Given the description of an element on the screen output the (x, y) to click on. 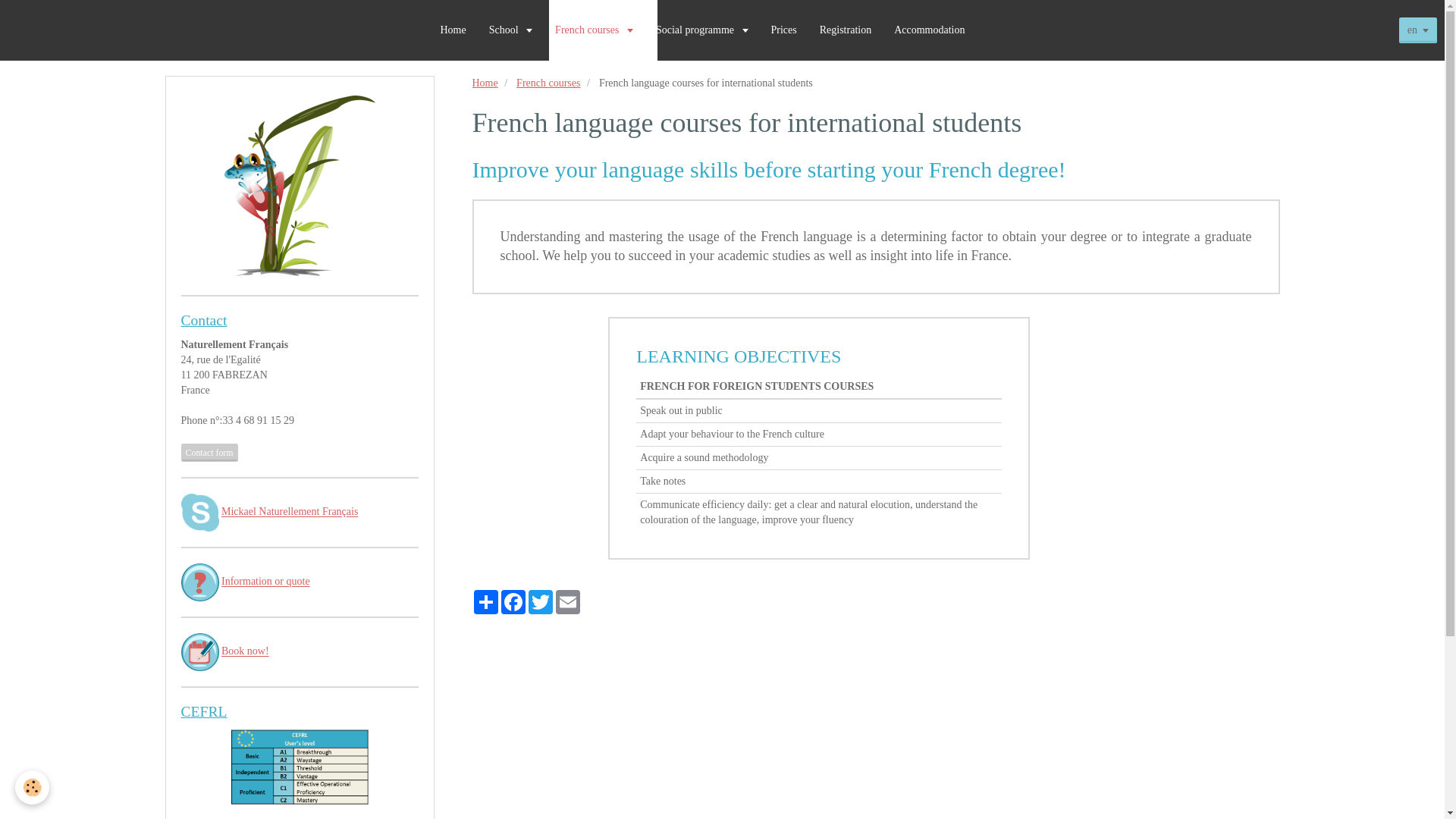
School (510, 30)
Home (484, 82)
Facebook (512, 601)
Book now! (245, 651)
Social programme (702, 30)
Contact (203, 320)
French courses (594, 30)
Contact form (208, 452)
en (1418, 30)
Accommodation (928, 30)
Email (566, 601)
Partager (485, 601)
French courses (547, 82)
CEFRL (203, 711)
Registration (845, 30)
